Given the description of an element on the screen output the (x, y) to click on. 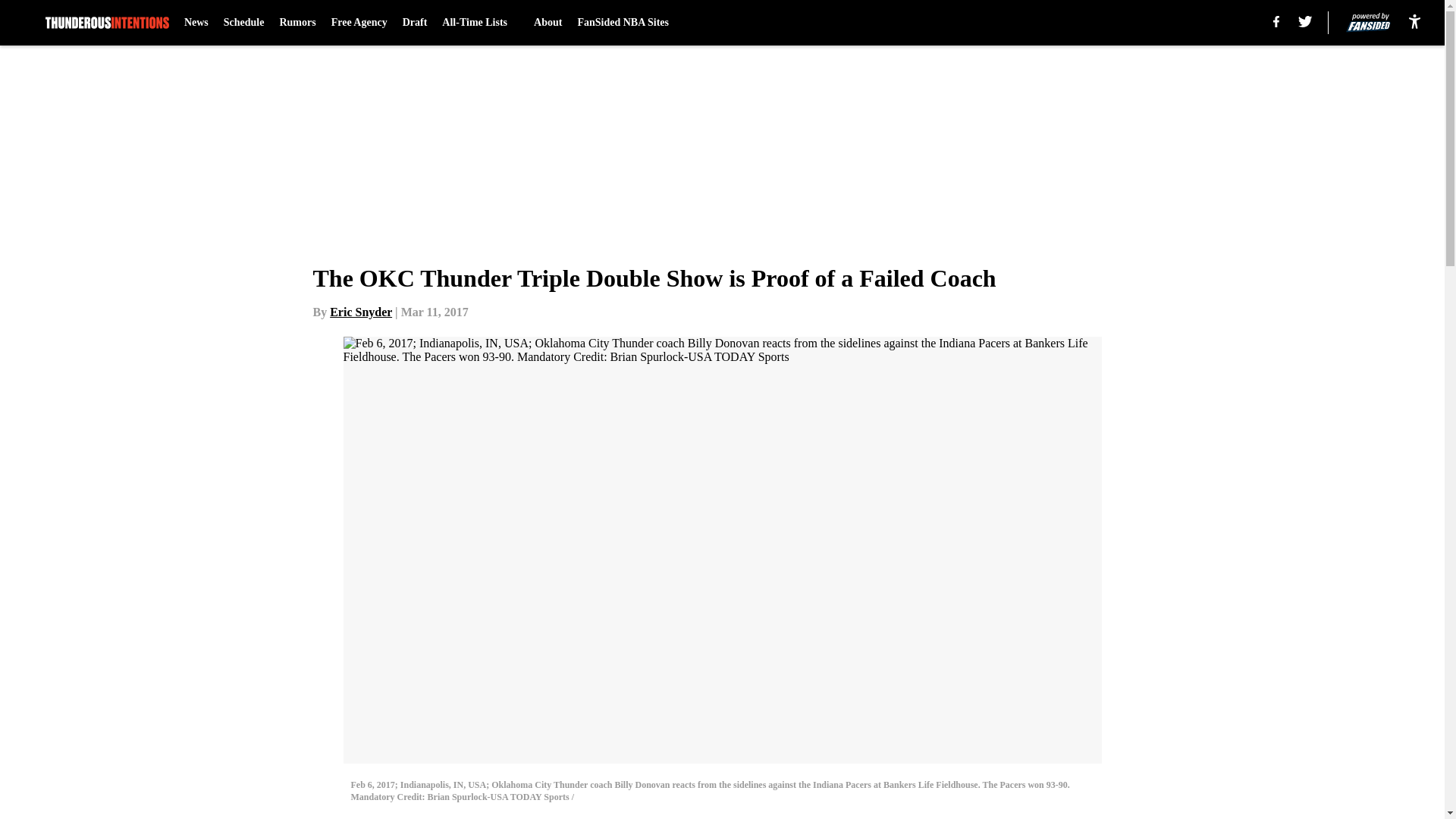
About (548, 22)
Schedule (244, 22)
Rumors (297, 22)
FanSided NBA Sites (622, 22)
News (196, 22)
Draft (415, 22)
Free Agency (359, 22)
All-Time Lists (480, 22)
Eric Snyder (360, 311)
